Given the description of an element on the screen output the (x, y) to click on. 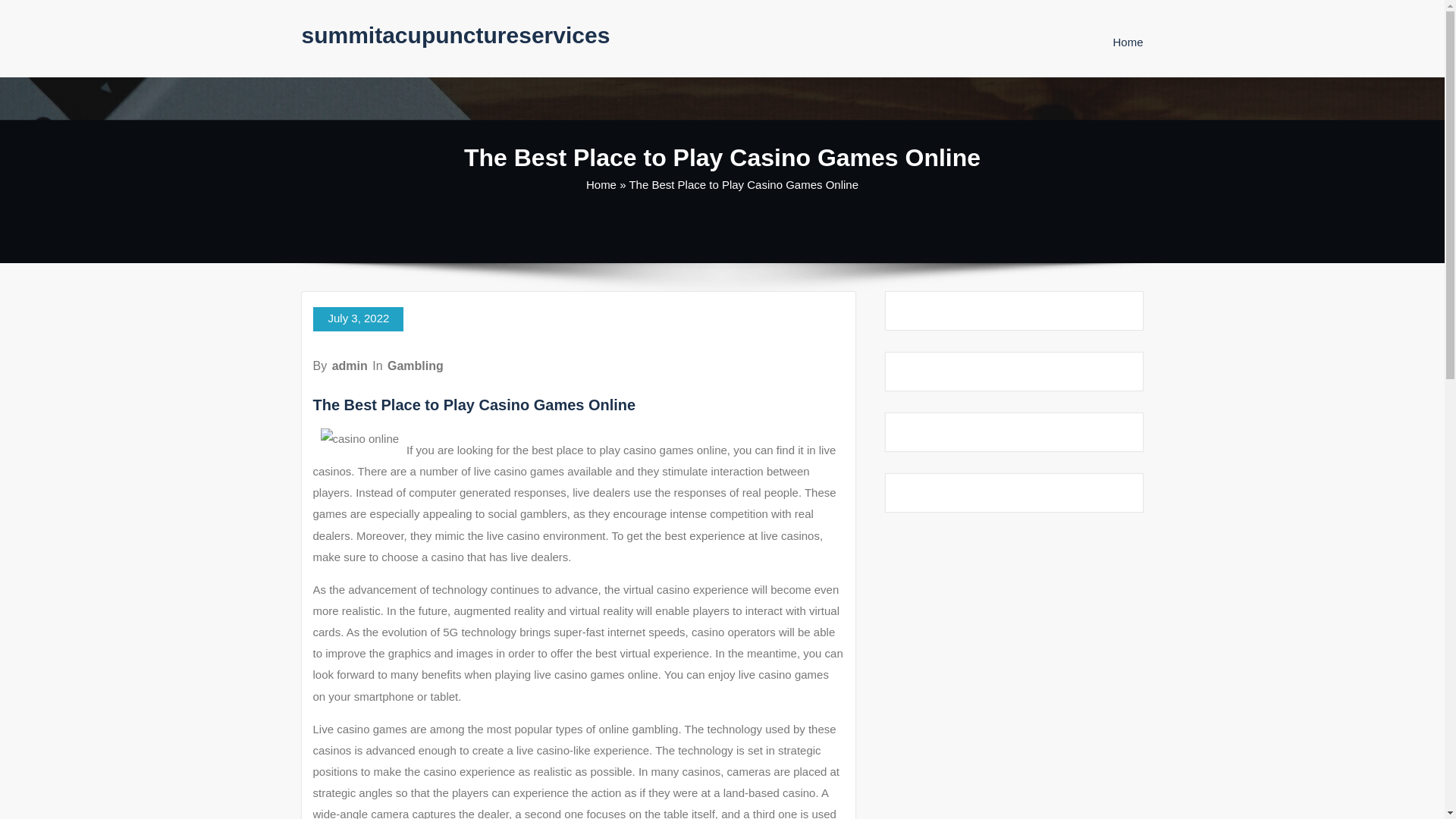
Home (1127, 41)
Gambling (415, 365)
Home (1127, 41)
July 3, 2022 (358, 319)
Home (600, 184)
admin (349, 365)
summitacupunctureservices (455, 34)
